Given the description of an element on the screen output the (x, y) to click on. 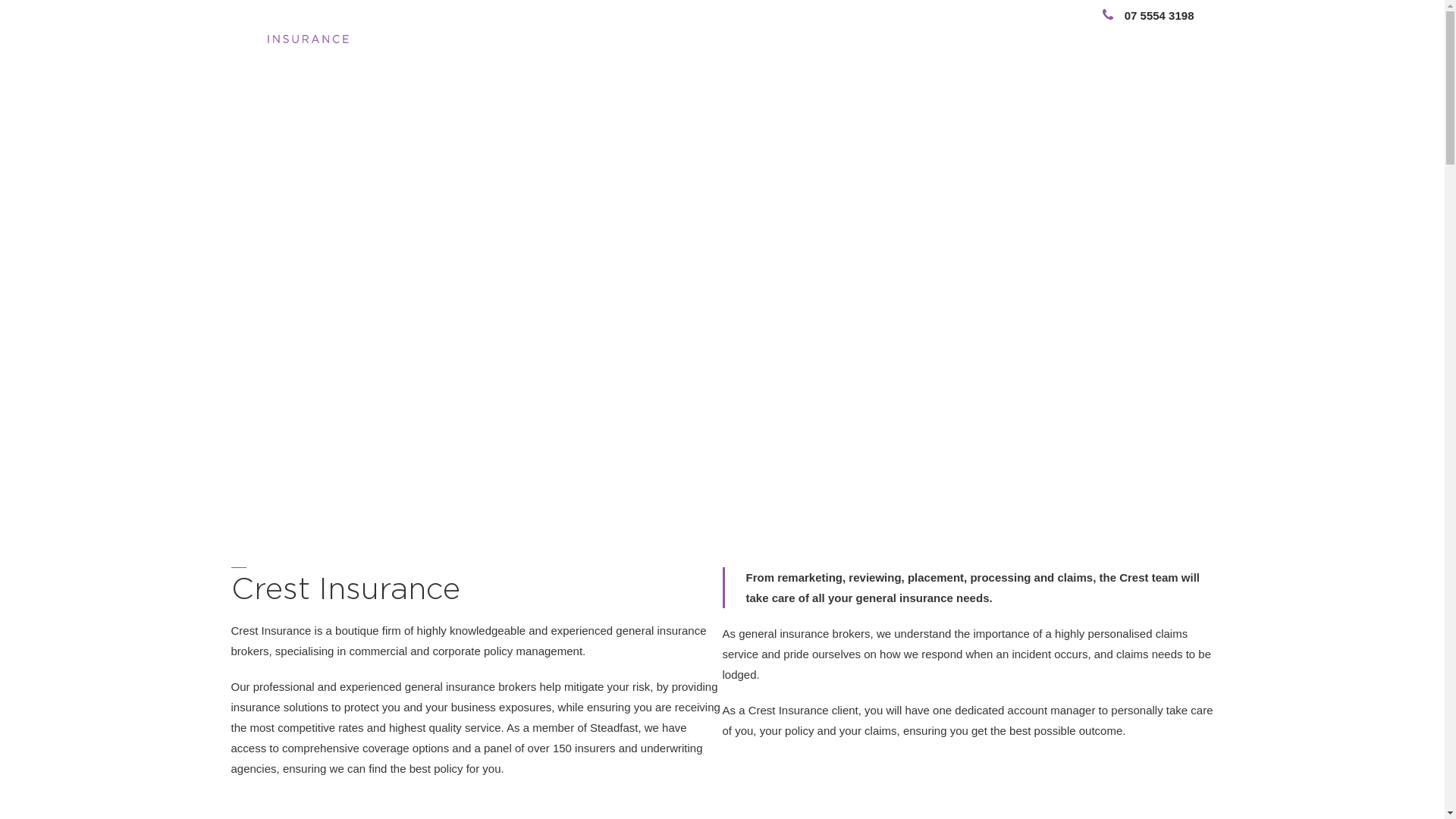
07 5554 3198 Element type: text (1148, 15)
Search Element type: text (1142, 34)
